Given the description of an element on the screen output the (x, y) to click on. 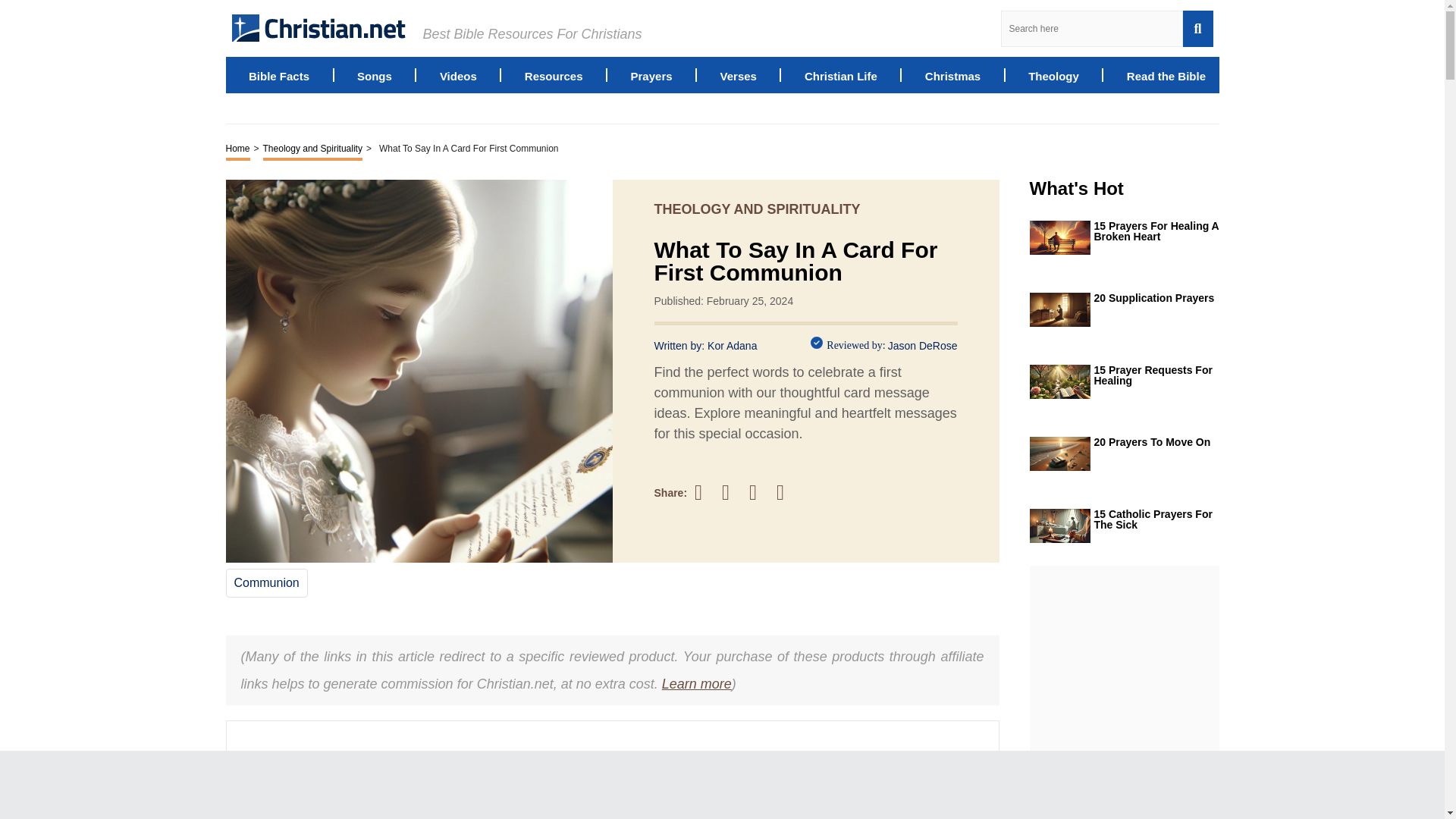
Bible Facts (278, 74)
Prayers (651, 74)
Home (237, 149)
Share on Twitter (732, 492)
Christmas (951, 74)
Songs (373, 74)
Resources (553, 74)
Videos (458, 74)
Read the Bible (1165, 74)
Theology (1052, 74)
Share on WhatsApp (786, 492)
Introduction (284, 804)
Learn more (697, 683)
Share on Pinterest (759, 492)
Kor Adana (732, 345)
